Given the description of an element on the screen output the (x, y) to click on. 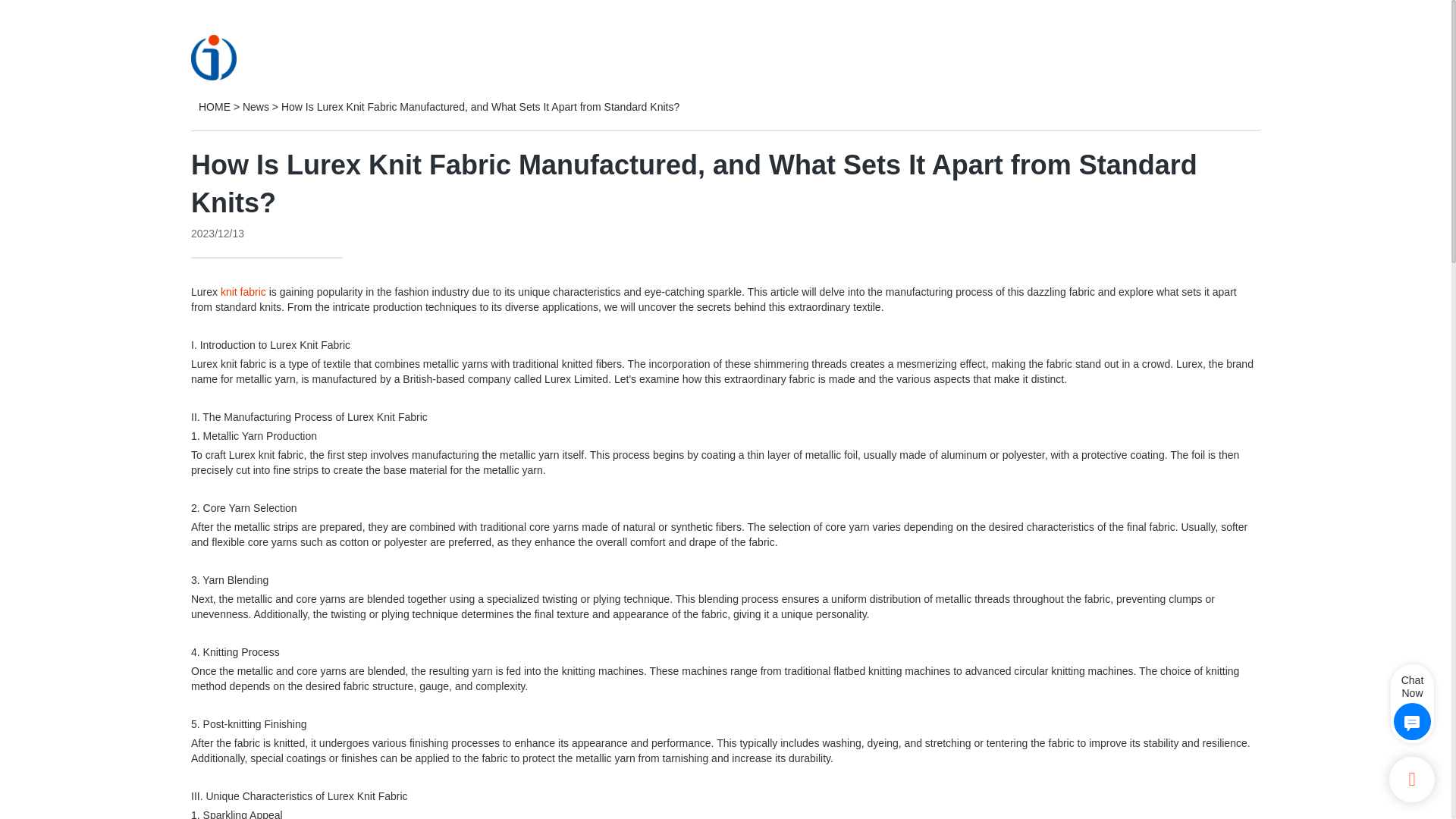
HOME (518, 56)
PRODUCTS (601, 56)
knit fabric (243, 291)
